Given the description of an element on the screen output the (x, y) to click on. 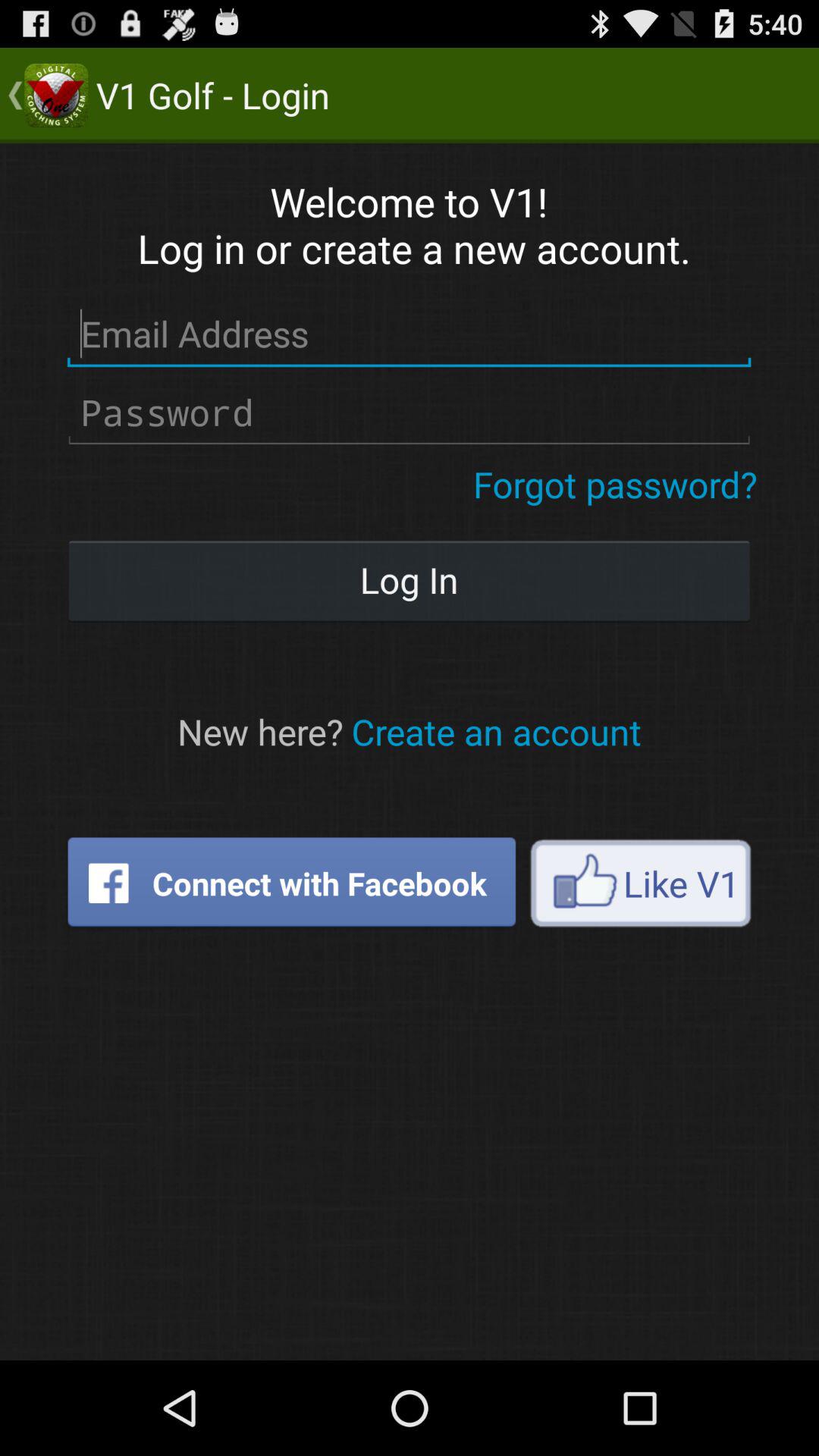
choose the item to the right of connect with facebook item (639, 883)
